Given the description of an element on the screen output the (x, y) to click on. 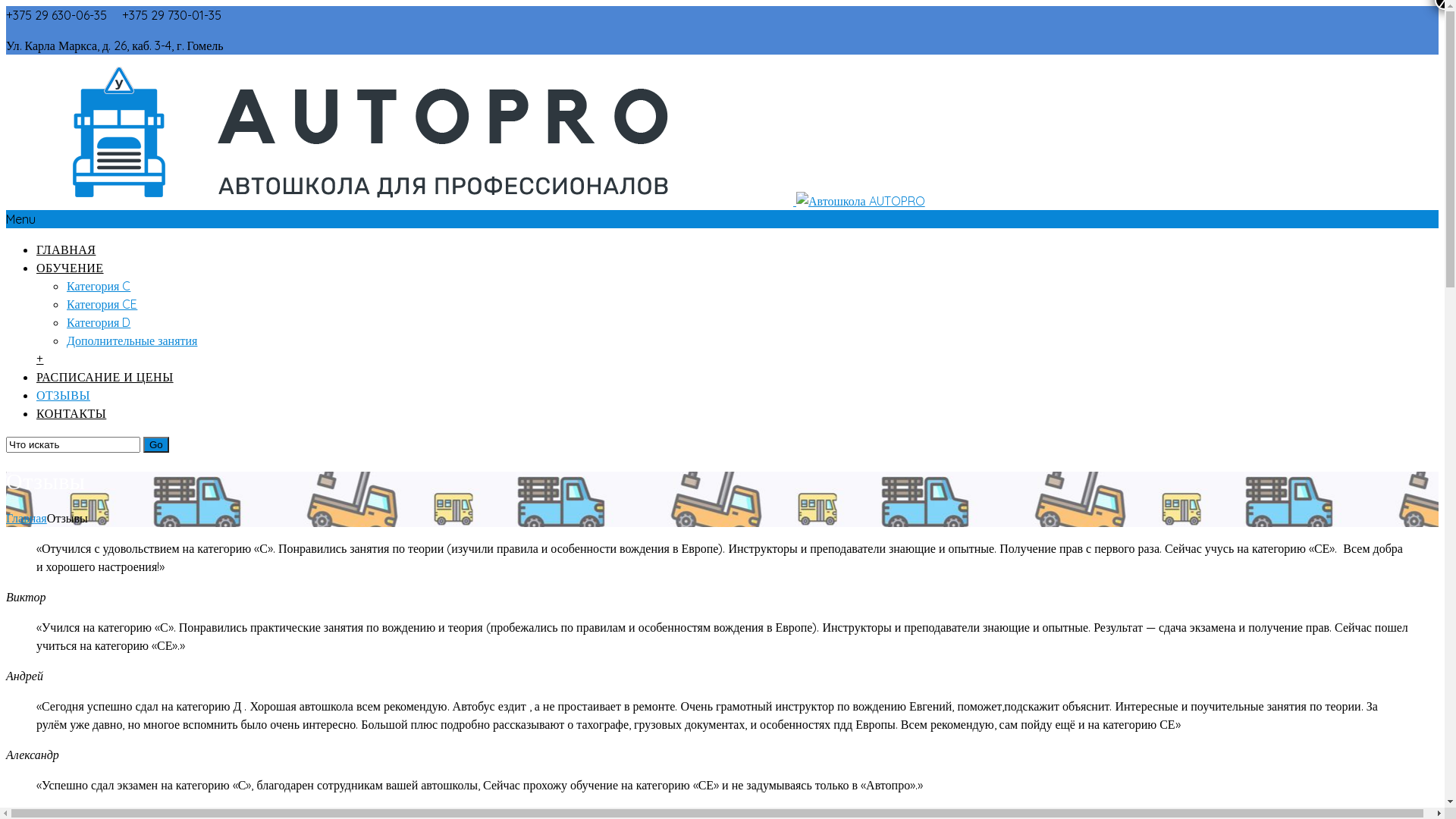
Go Element type: text (156, 444)
+ Element type: text (39, 358)
